Given the description of an element on the screen output the (x, y) to click on. 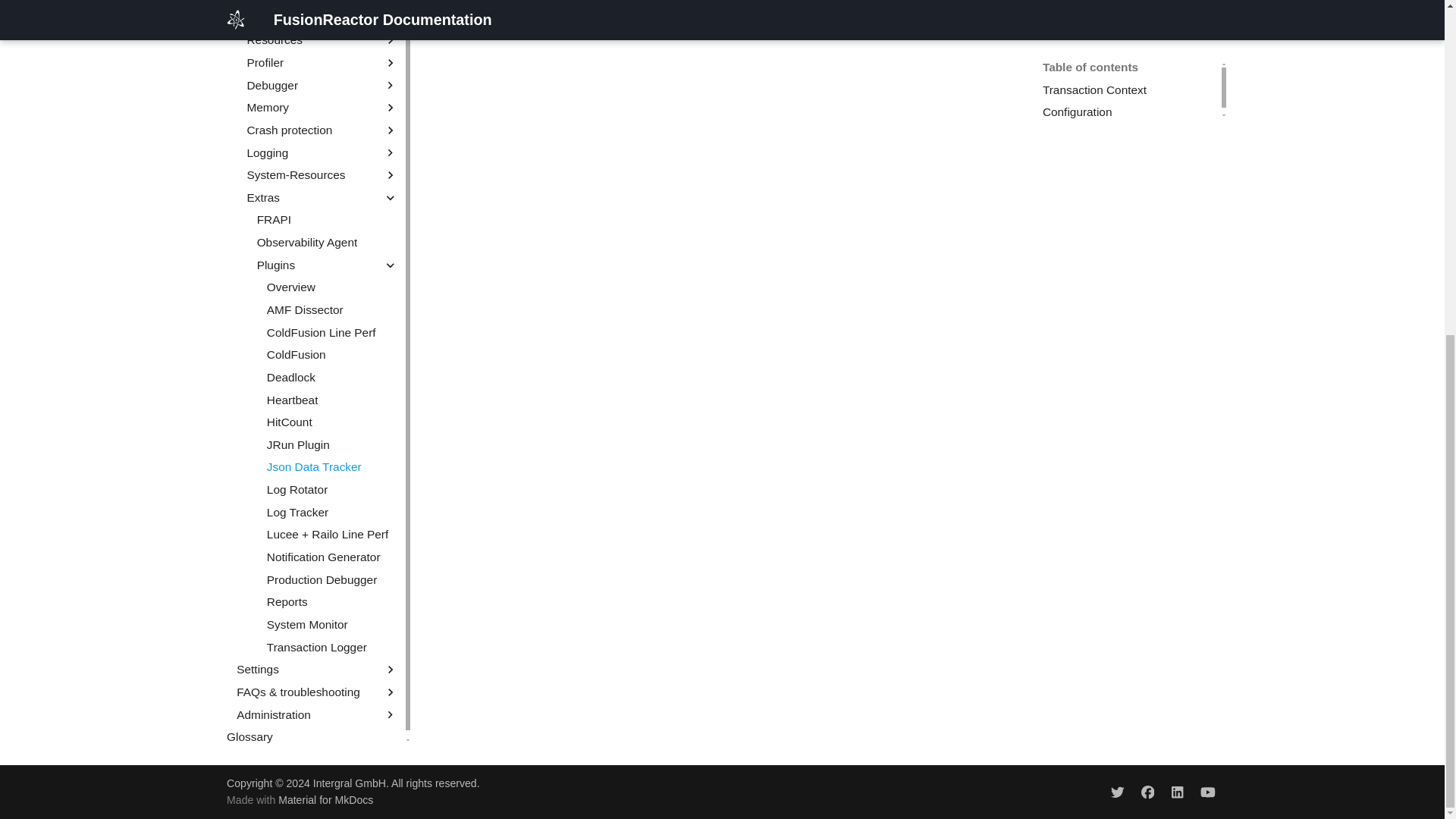
www.youtube.com (1207, 791)
www.linkedin.com (1177, 791)
www.facebook.com (1147, 791)
twitter.com (1117, 791)
